Given the description of an element on the screen output the (x, y) to click on. 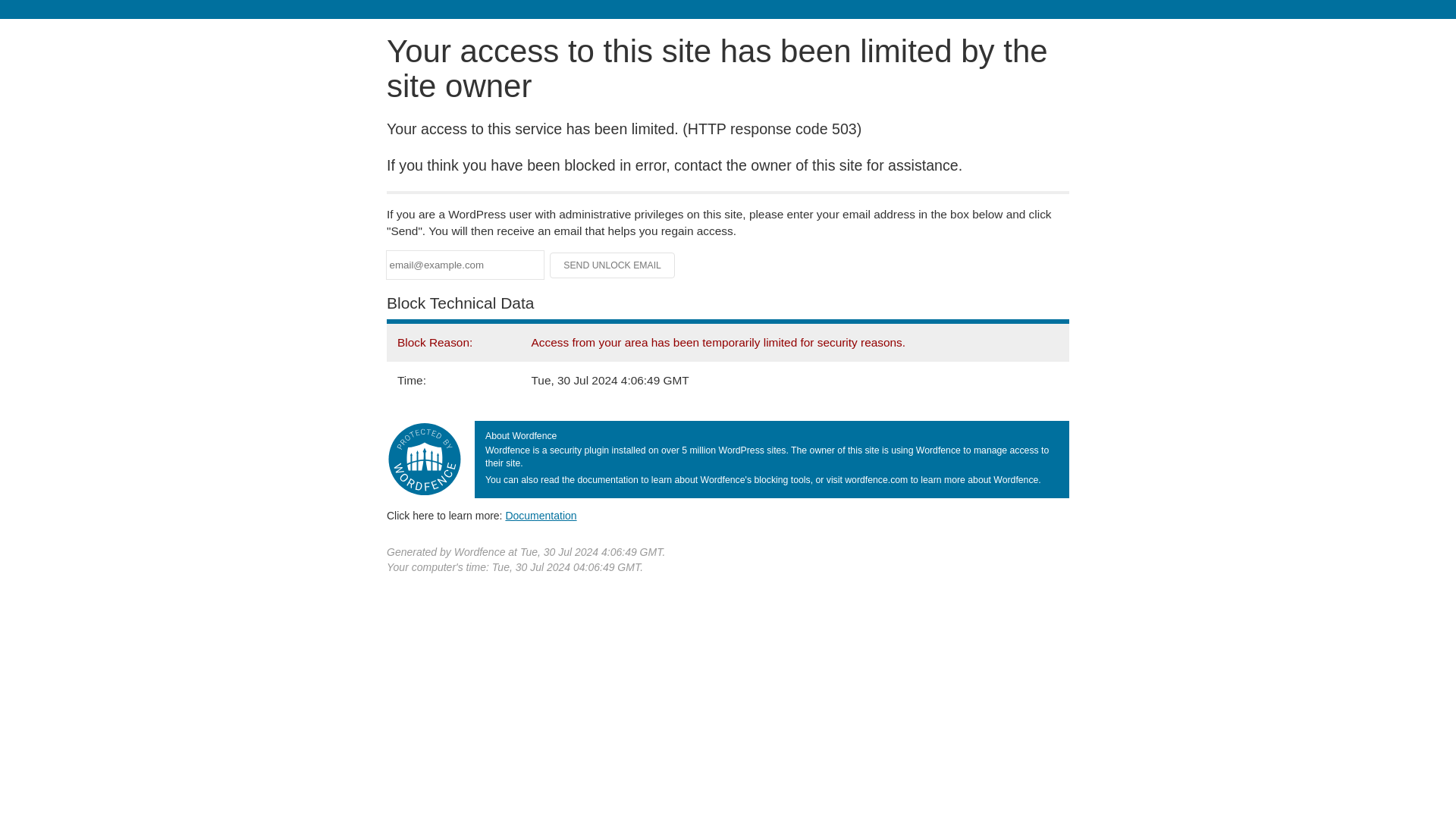
Documentation (540, 515)
Send Unlock Email (612, 265)
Send Unlock Email (612, 265)
